Given the description of an element on the screen output the (x, y) to click on. 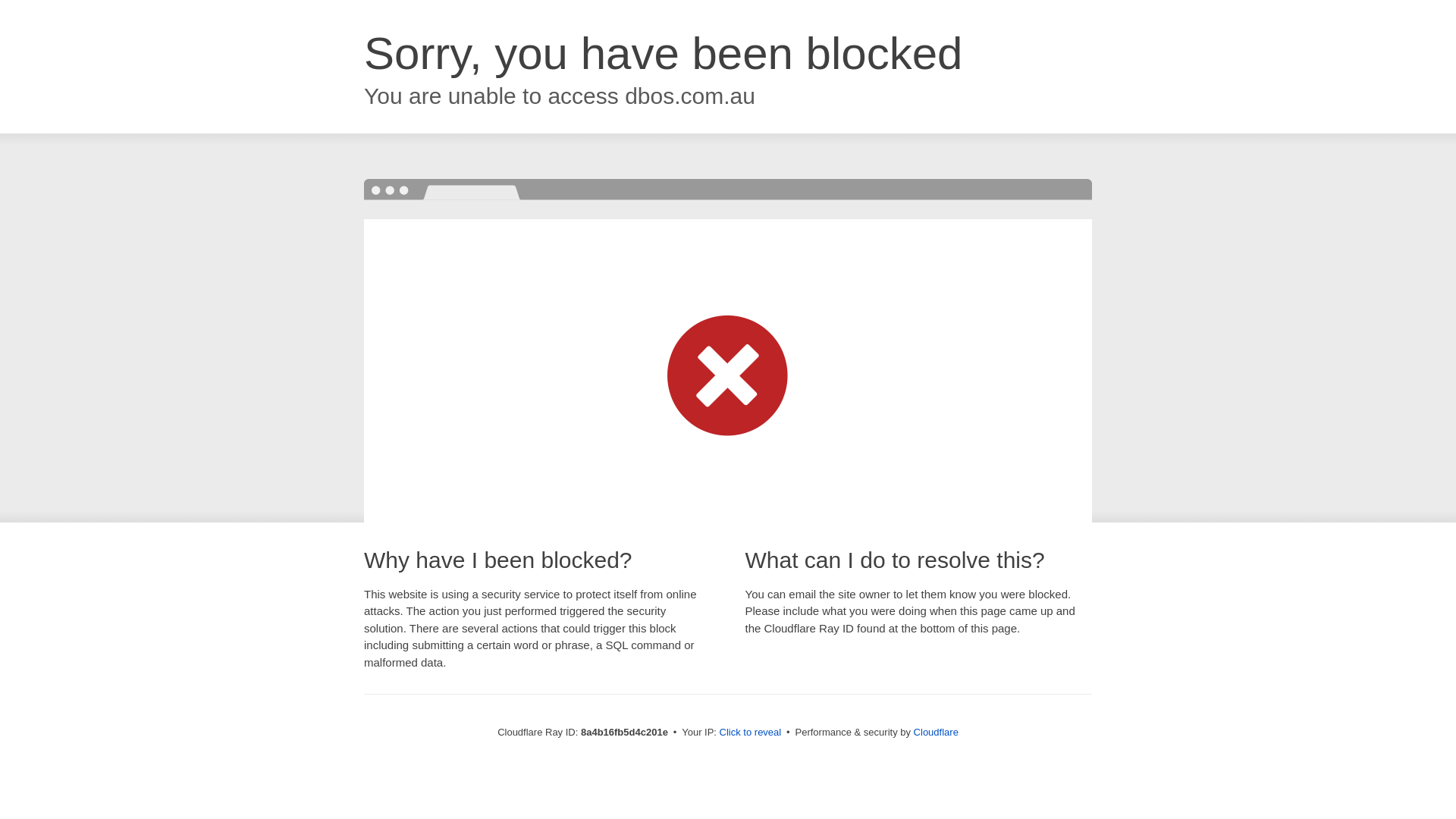
Cloudflare (936, 731)
Click to reveal (750, 732)
